Given the description of an element on the screen output the (x, y) to click on. 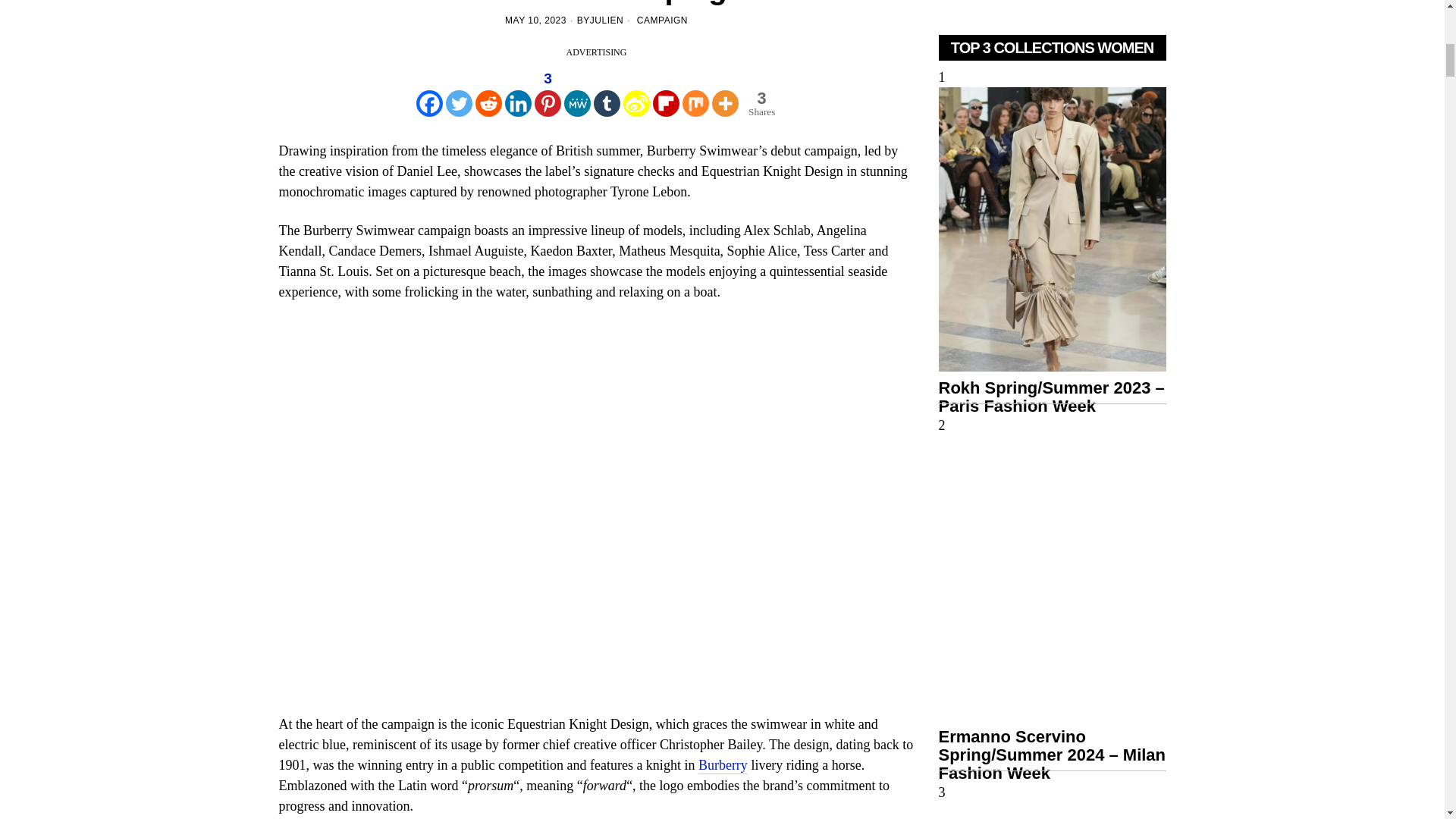
CAMPAIGN (662, 20)
JULIEN (606, 20)
10 May, 2023 15:13:02 (535, 20)
